Given the description of an element on the screen output the (x, y) to click on. 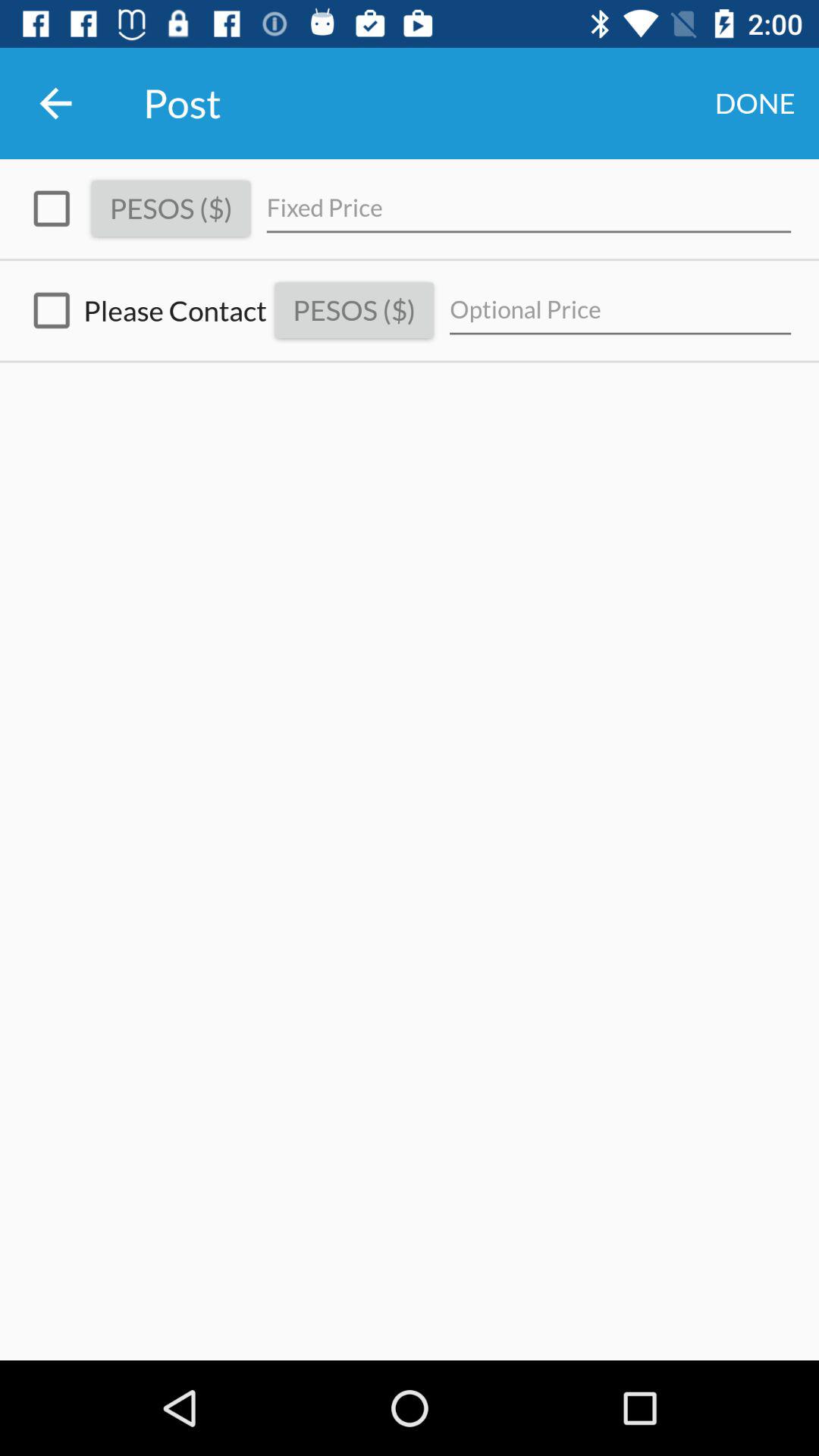
click done (755, 103)
